Given the description of an element on the screen output the (x, y) to click on. 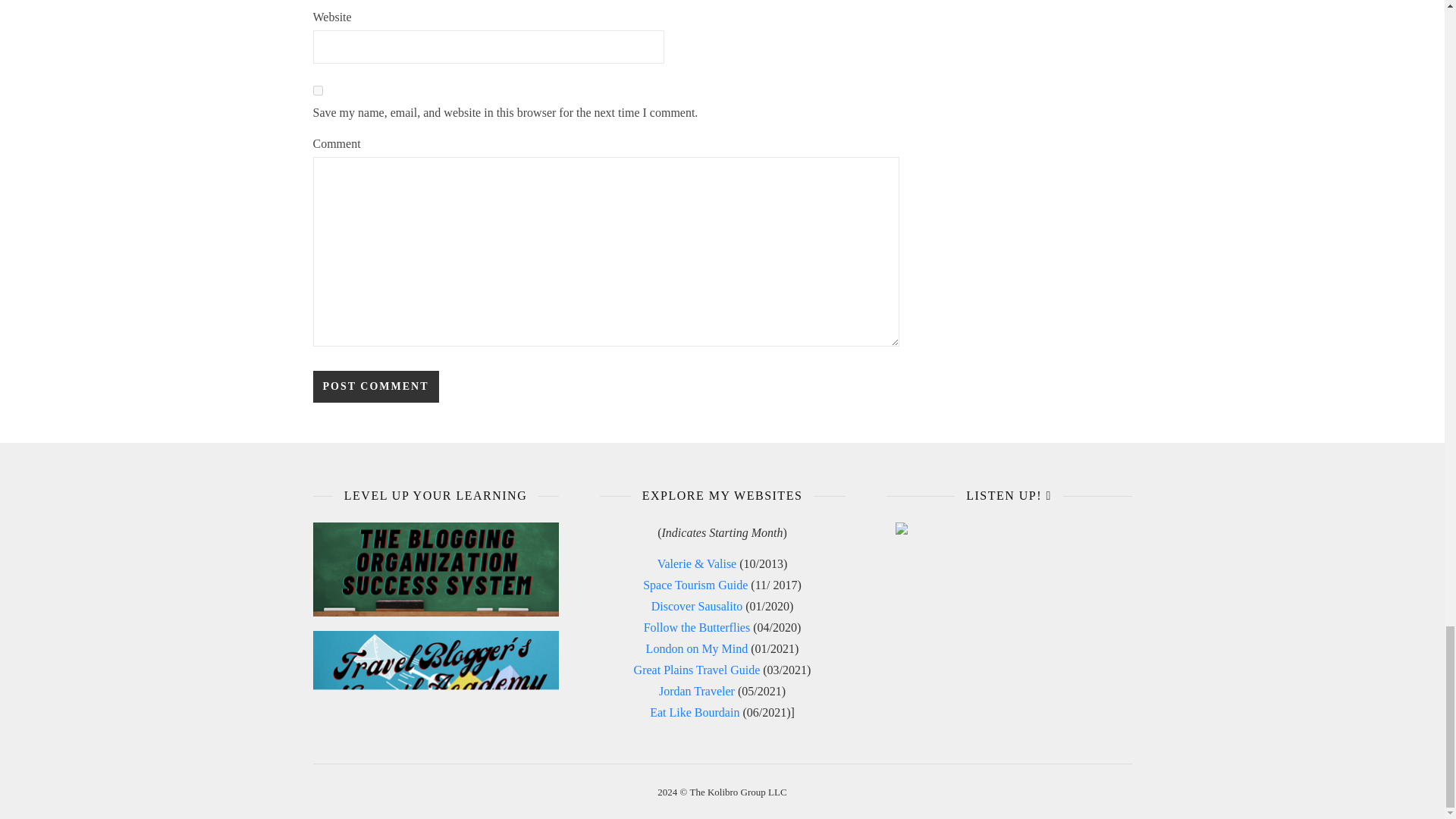
Post Comment (375, 386)
yes (317, 90)
